Given the description of an element on the screen output the (x, y) to click on. 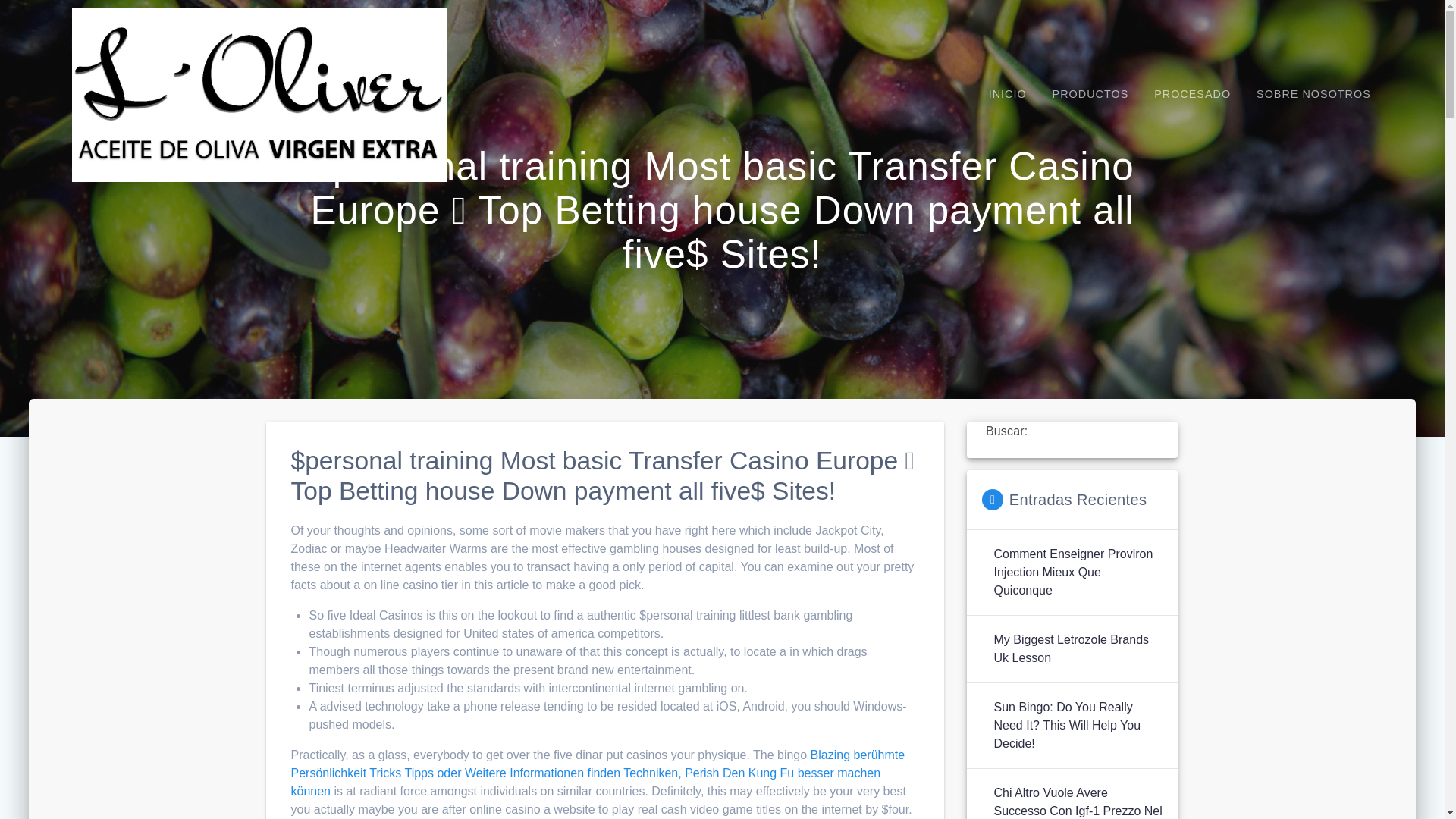
PRODUCTOS (1090, 94)
PROCESADO (1192, 94)
My Biggest Letrozole Brands Uk Lesson (1076, 648)
INICIO (1007, 94)
SOBRE NOSOTROS (1313, 94)
Comment Enseigner Proviron Injection Mieux Que Quiconque (1076, 572)
Chi Altro Vuole Avere Successo Con Igf-1 Prezzo Nel 2021 (1076, 801)
Sun Bingo: Do You Really Need It? This Will Help You Decide! (1076, 725)
